Given the description of an element on the screen output the (x, y) to click on. 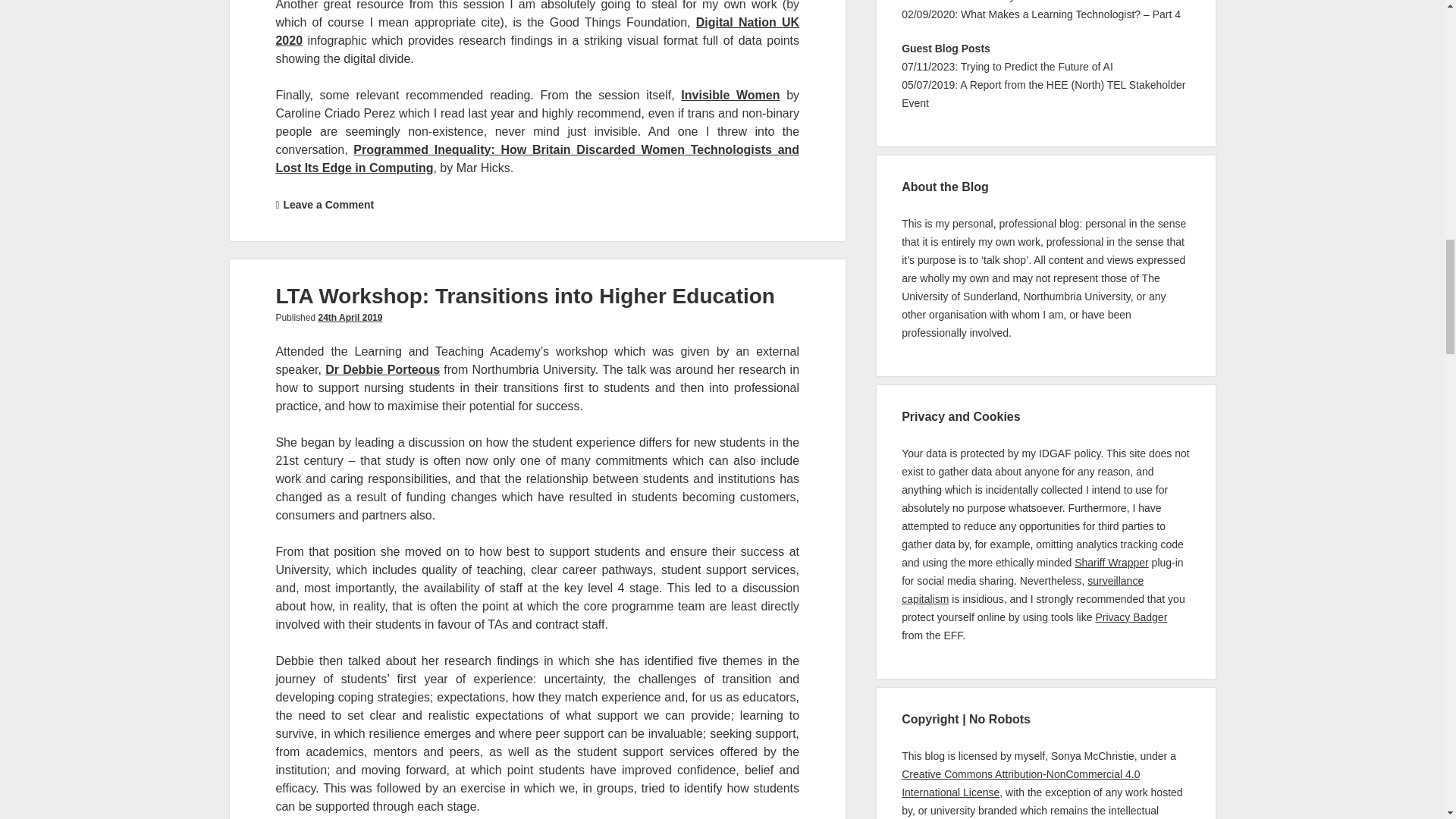
24th April 2019 (349, 317)
Dr Debbie Porteous (381, 369)
Digital Nation UK 2020 (537, 30)
Invisible Women (729, 94)
Leave a Comment (328, 204)
LTA Workshop: Transitions into Higher Education (524, 295)
